Given the description of an element on the screen output the (x, y) to click on. 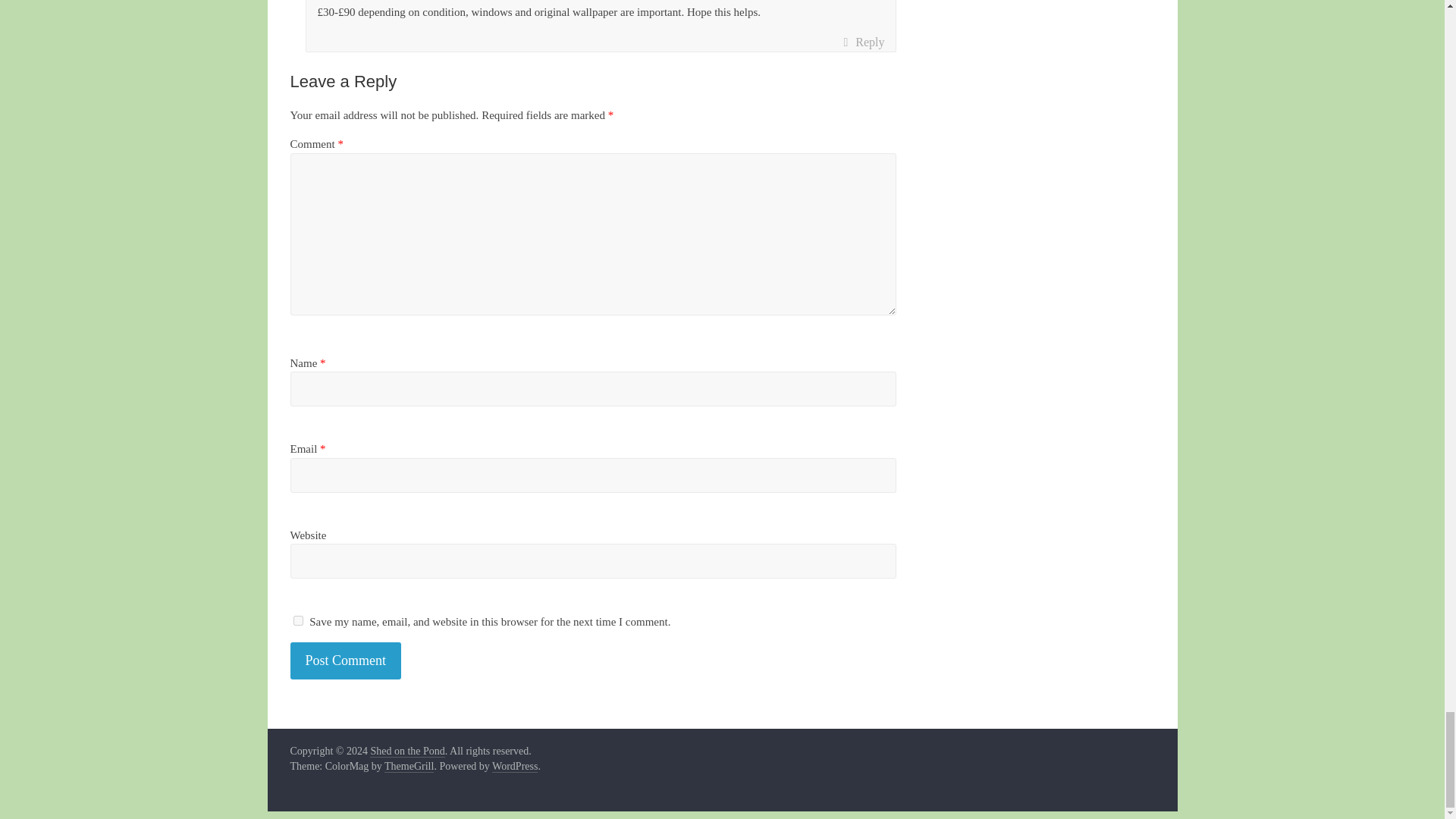
ThemeGrill (408, 766)
Post Comment (345, 660)
Shed on the Pond (406, 751)
yes (297, 620)
